Given the description of an element on the screen output the (x, y) to click on. 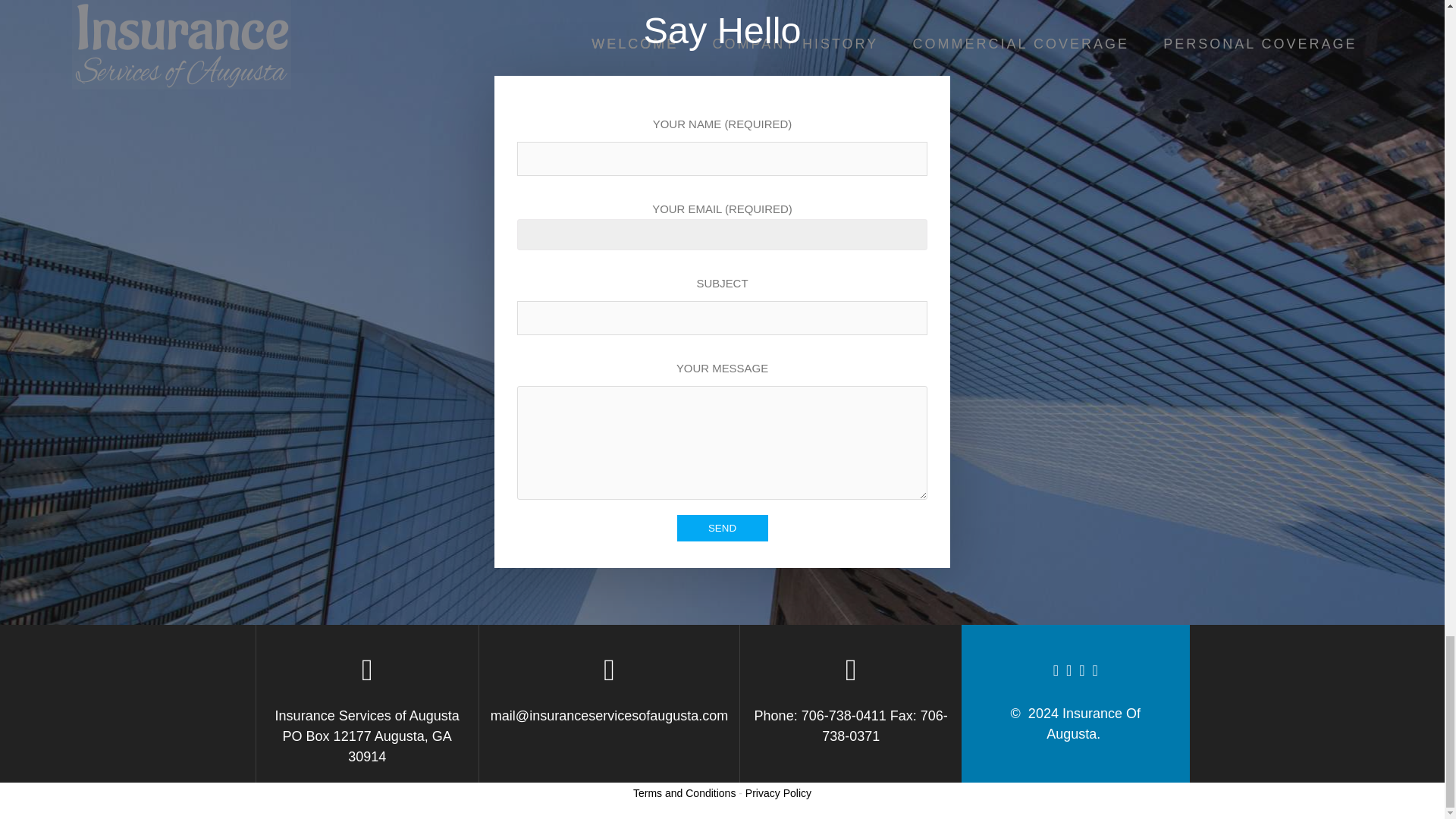
Send (722, 528)
Privacy Policy (777, 793)
Terms and Conditions (684, 793)
Send (722, 528)
